Given the description of an element on the screen output the (x, y) to click on. 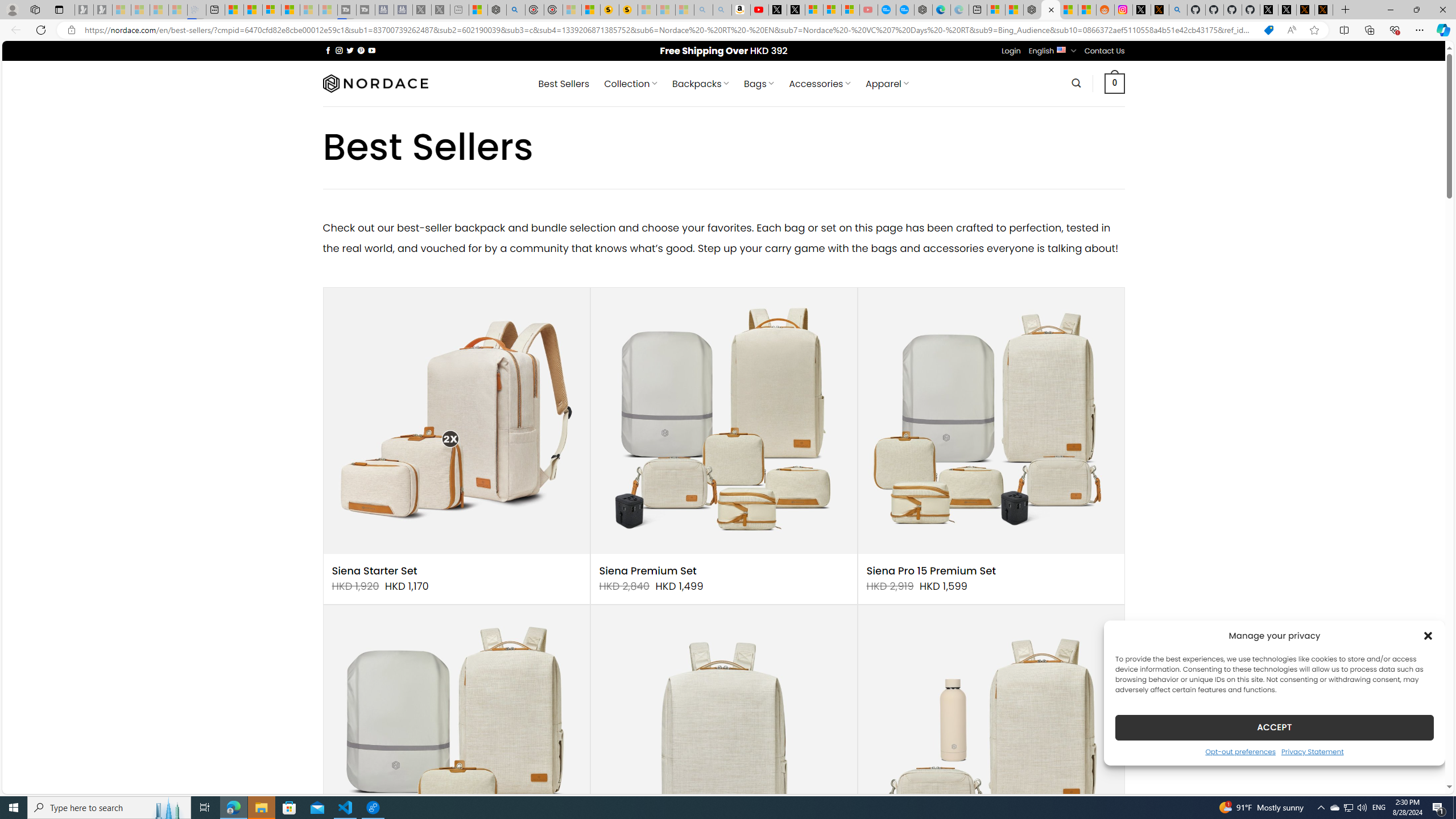
Profile / X (1268, 9)
GitHub (@github) / X (1287, 9)
amazon - Search - Sleeping (702, 9)
 0  (1115, 83)
